Given the description of an element on the screen output the (x, y) to click on. 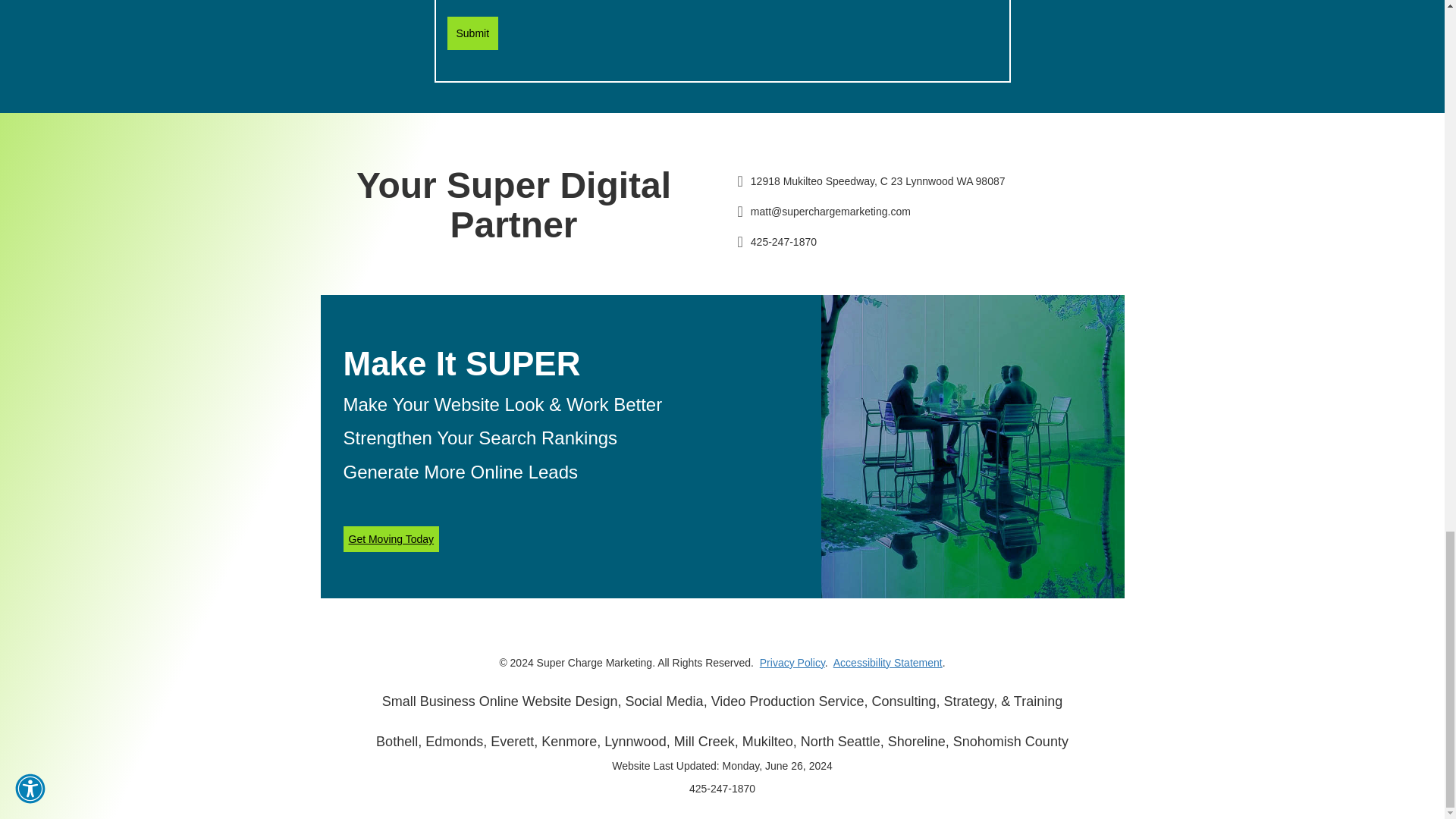
Get Moving Today (390, 539)
Submit (472, 32)
Privacy Policy (792, 662)
Accessibility Statement (887, 662)
